Given the description of an element on the screen output the (x, y) to click on. 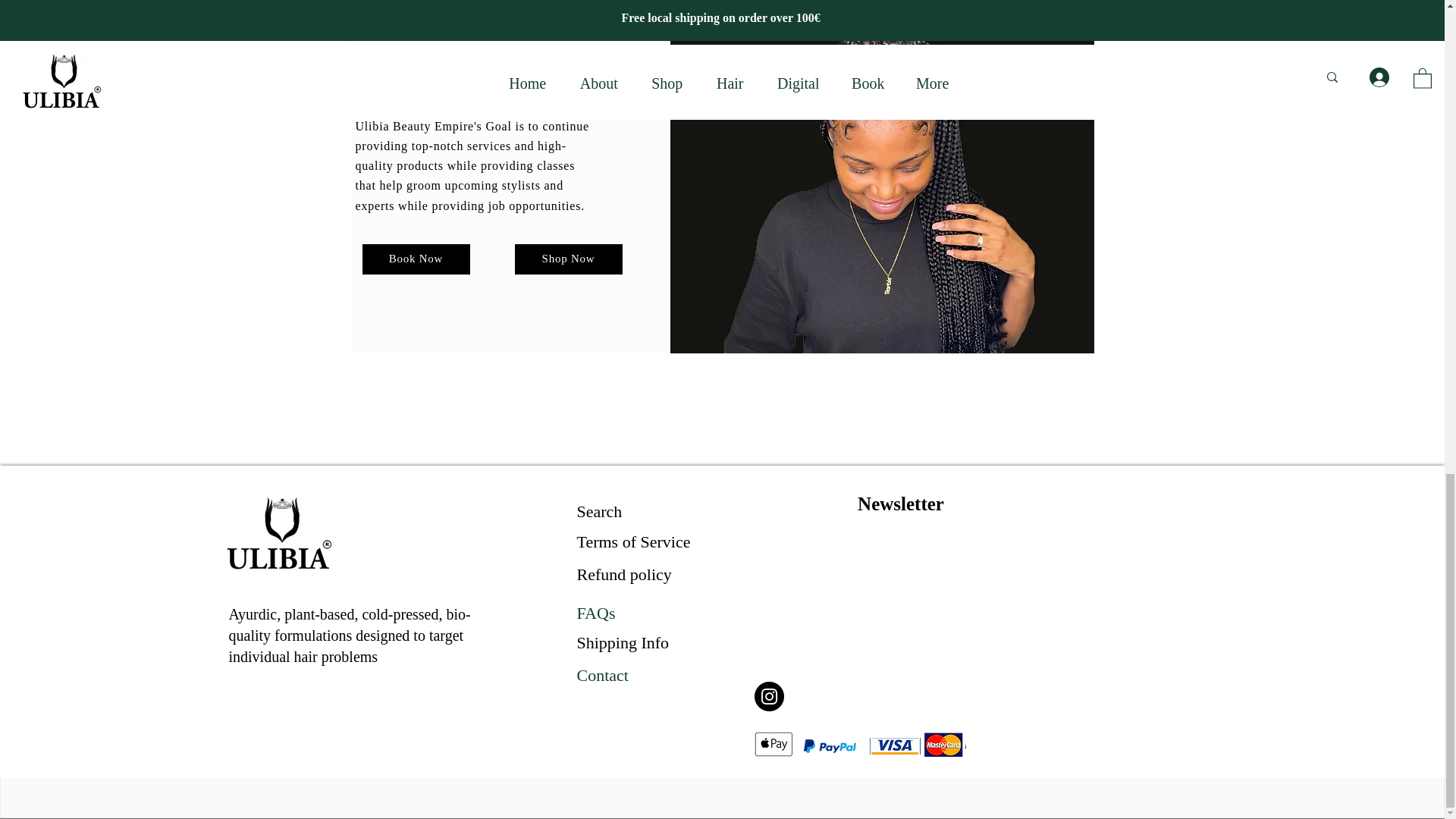
Contact (601, 674)
FAQs (595, 612)
Search (598, 511)
Terms of Service (633, 541)
Refund policy (623, 574)
Book Now (416, 259)
Shop Now (567, 259)
